Given the description of an element on the screen output the (x, y) to click on. 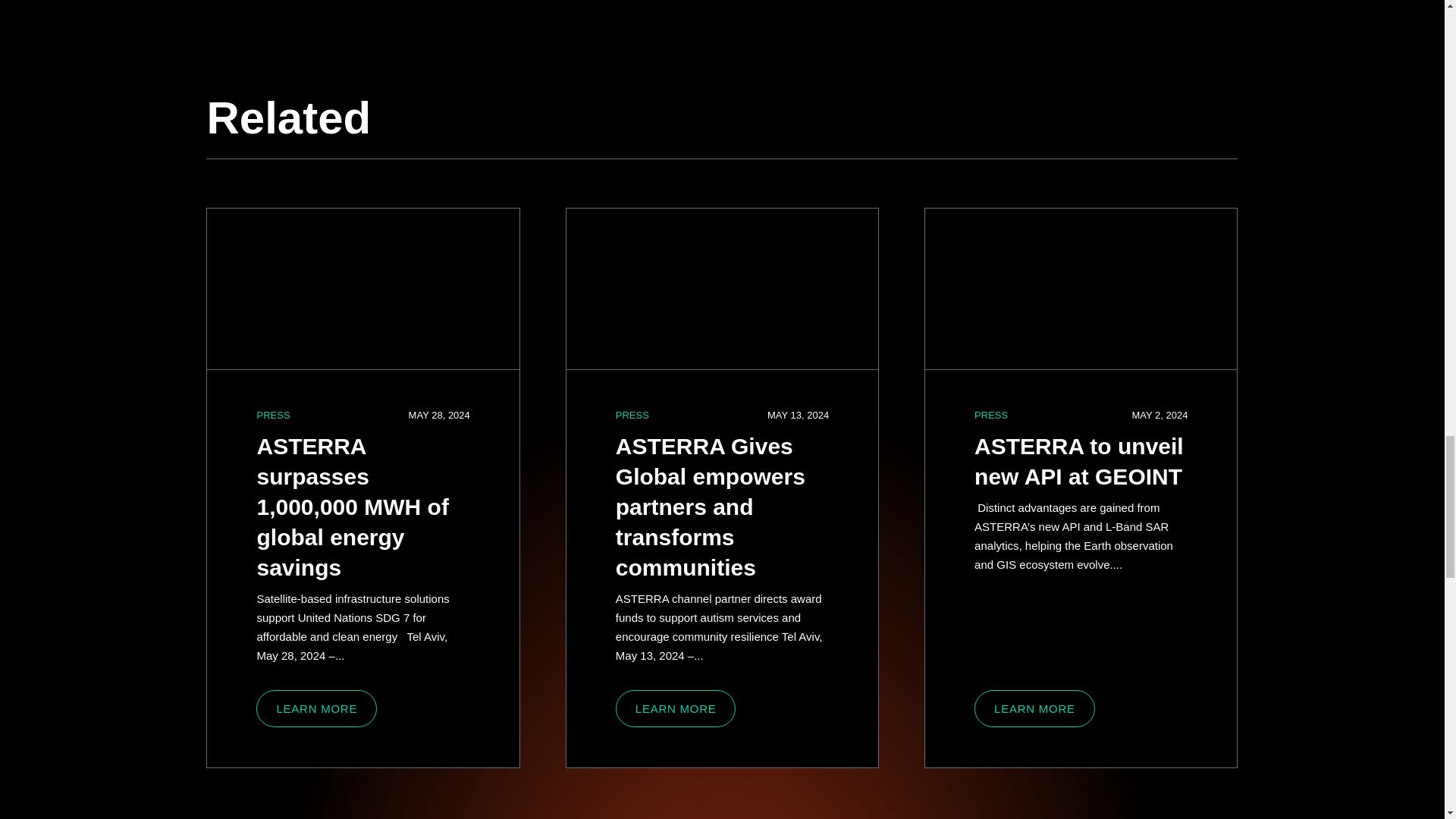
LEARN MORE (1034, 708)
LEARN MORE (675, 708)
ASTERRA to unveil new API at GEOINT (1078, 461)
ASTERRA surpasses 1,000,000 MWH of global energy savings (362, 289)
ASTERRA surpasses 1,000,000 MWH of global energy savings (352, 506)
ASTERRA to unveil new API at GEOINT (1080, 289)
LEARN MORE (316, 708)
